Given the description of an element on the screen output the (x, y) to click on. 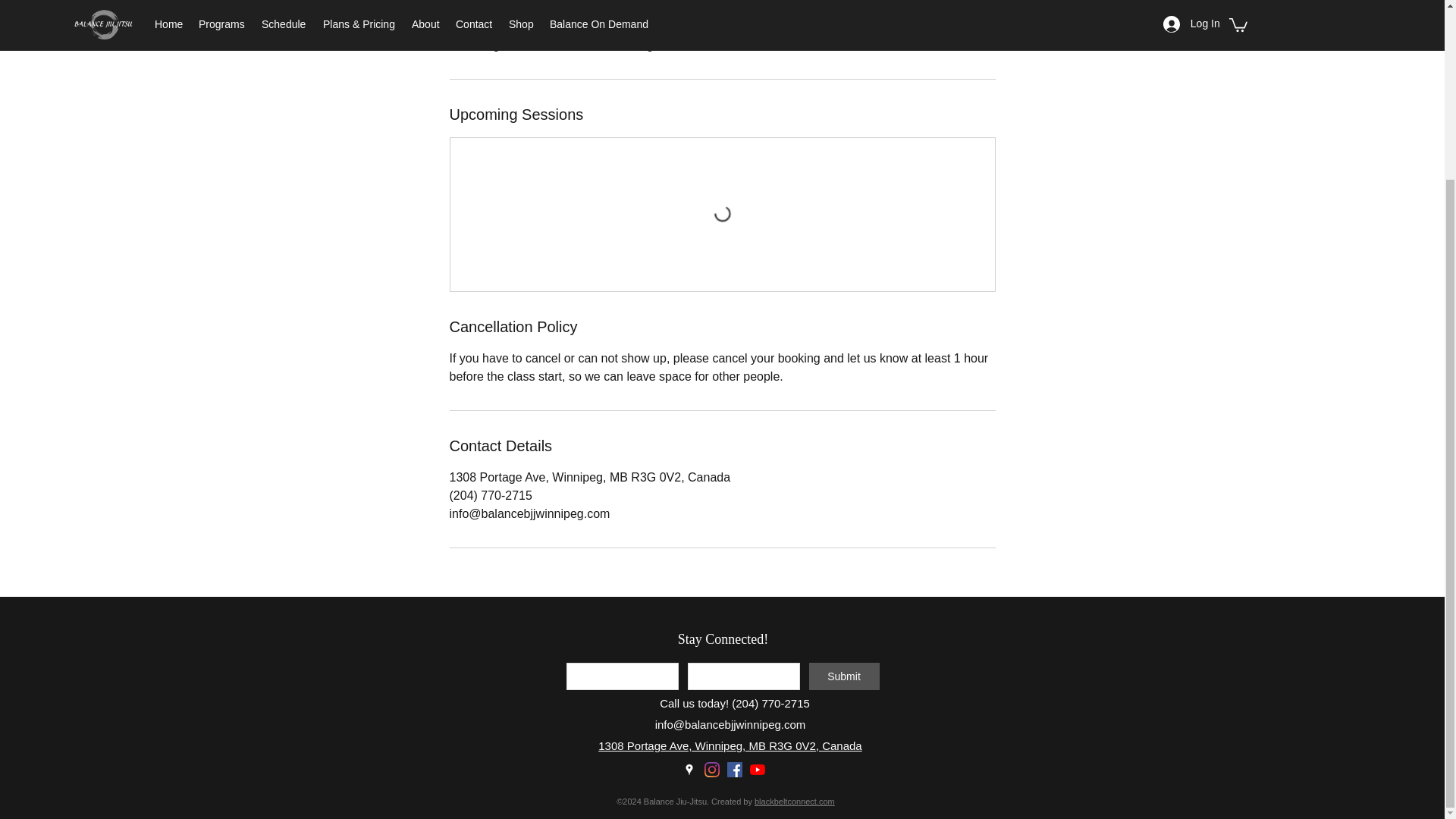
Submit (843, 676)
blackbeltconnect.com (794, 800)
1308 Portage Ave, Winnipeg, MB R3G 0V2, Canada (729, 745)
